Given the description of an element on the screen output the (x, y) to click on. 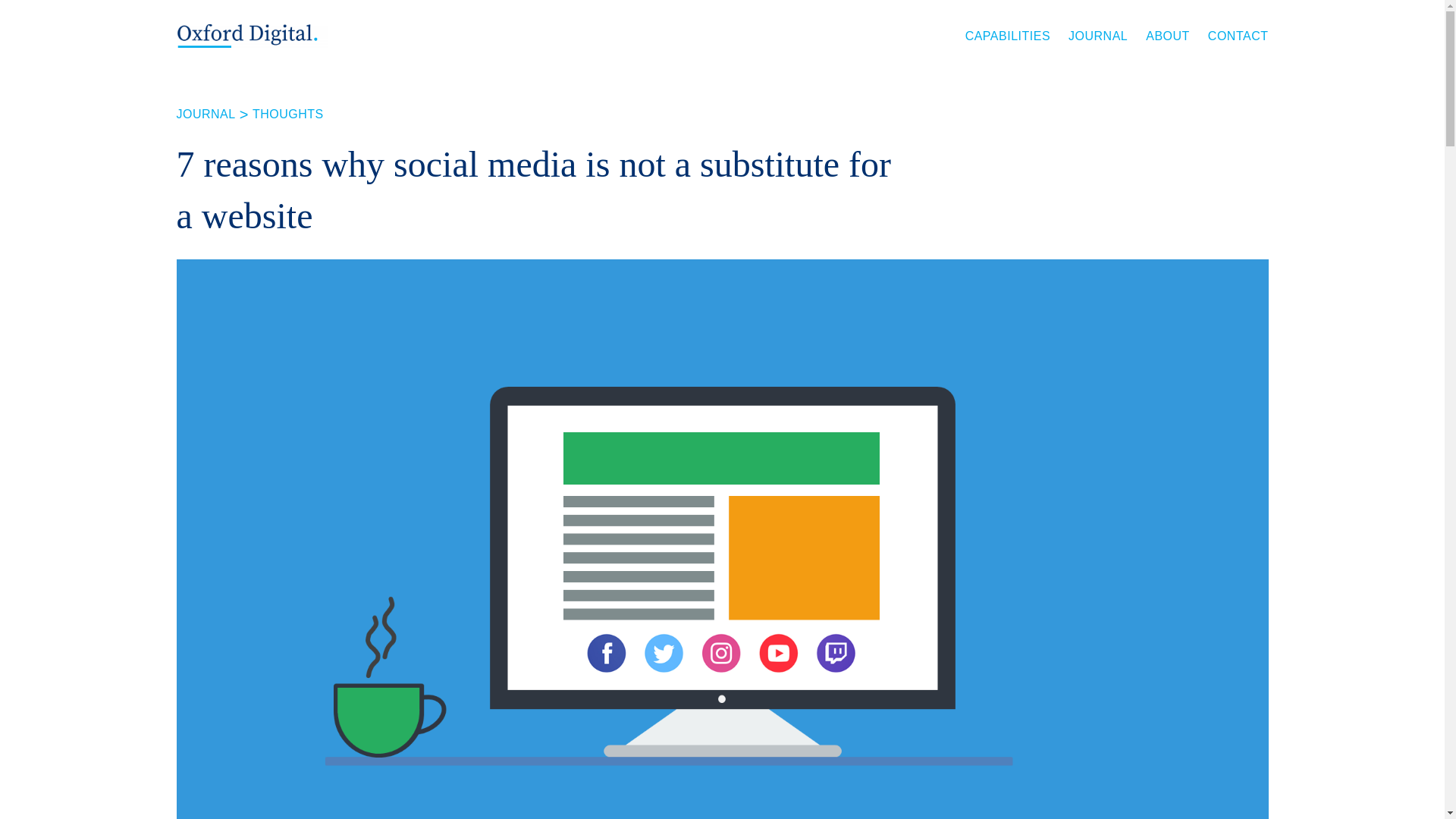
JOURNAL (205, 114)
CAPABILITIES (1007, 36)
THOUGHTS (287, 114)
ABOUT (1167, 36)
JOURNAL (1097, 36)
CONTACT (1238, 36)
